Given the description of an element on the screen output the (x, y) to click on. 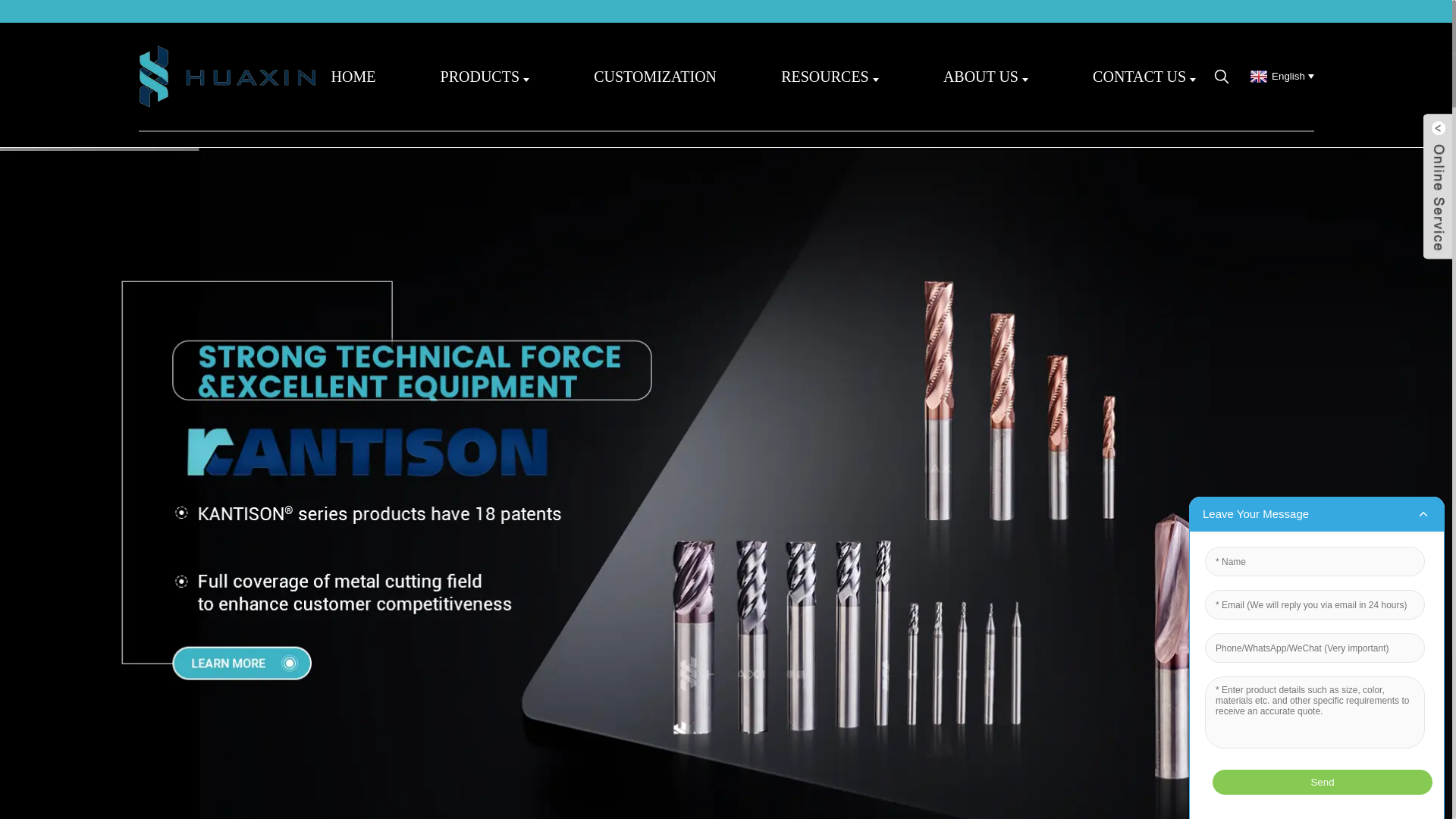
CONTACT US (1144, 76)
PRODUCTS (484, 76)
RESOURCES (829, 76)
ABOUT US (985, 76)
CUSTOMIZATION (654, 76)
English (1279, 75)
HOME (353, 76)
